Given the description of an element on the screen output the (x, y) to click on. 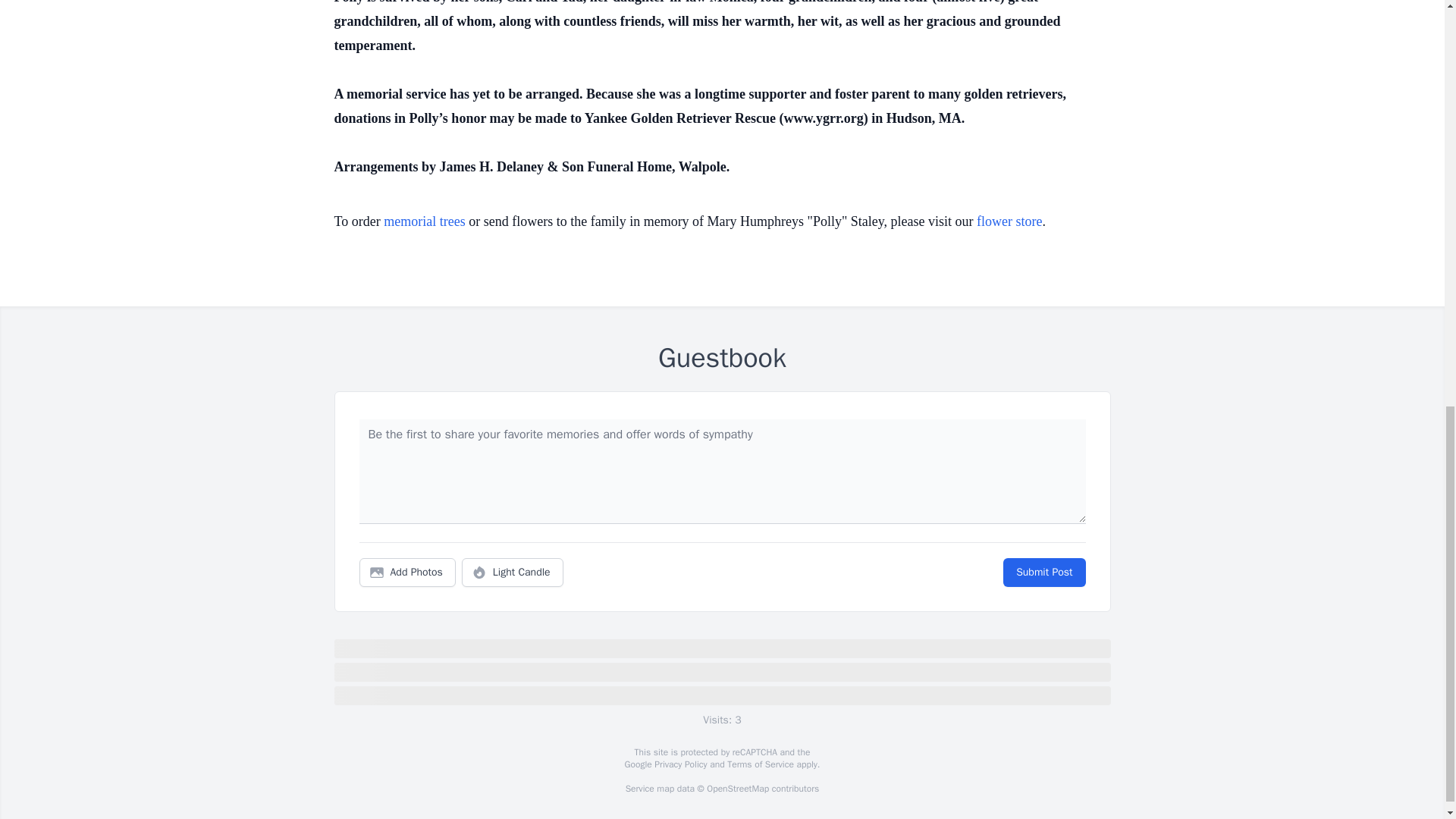
Terms of Service (759, 764)
OpenStreetMap (737, 788)
memorial trees (424, 221)
flower store (1009, 221)
Add Photos (407, 572)
Privacy Policy (679, 764)
Submit Post (1043, 572)
Light Candle (512, 572)
